Given the description of an element on the screen output the (x, y) to click on. 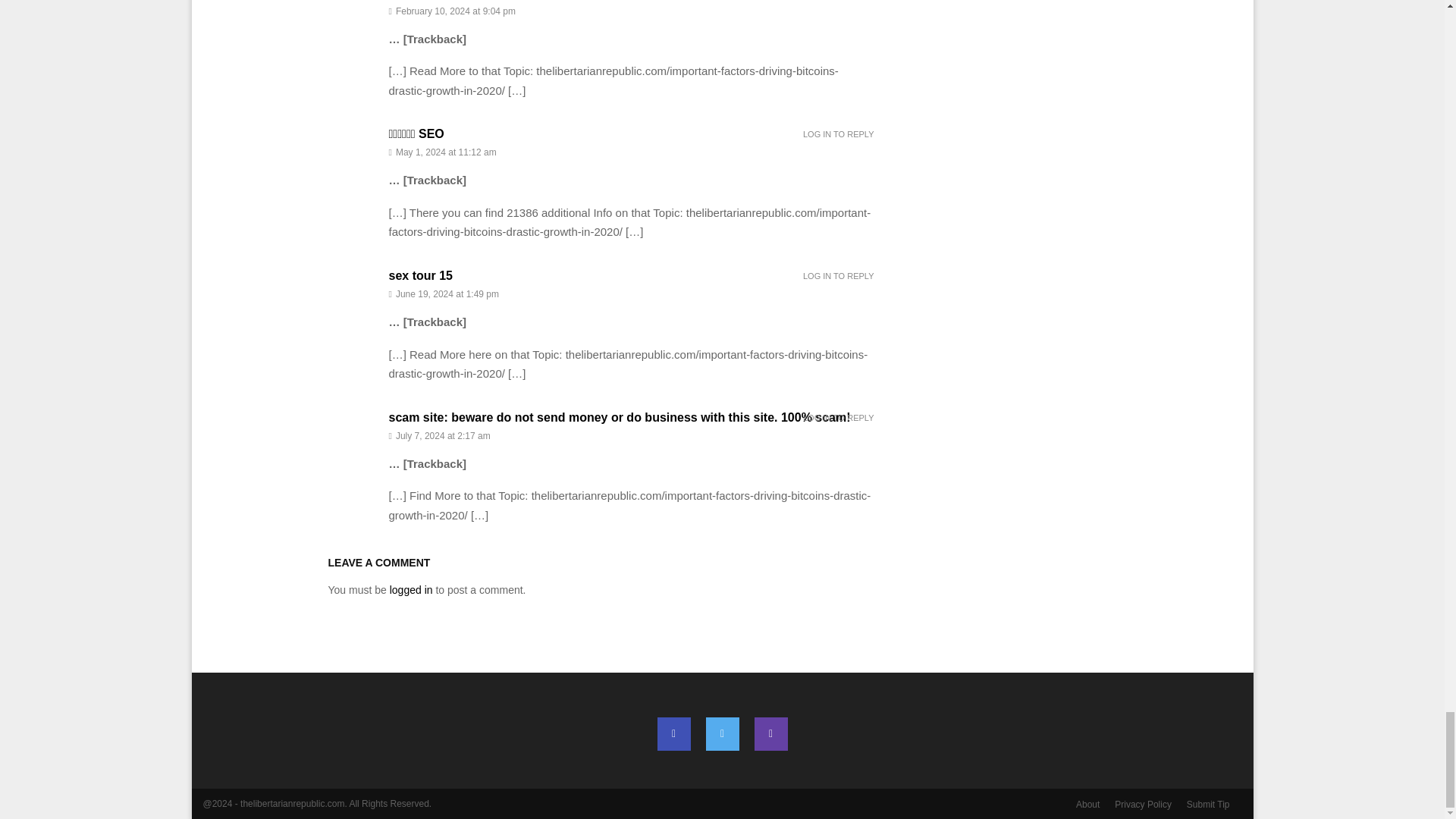
Saturday, February 10, 2024, 9:04 pm (630, 11)
Wednesday, May 1, 2024, 11:12 am (630, 151)
